Given the description of an element on the screen output the (x, y) to click on. 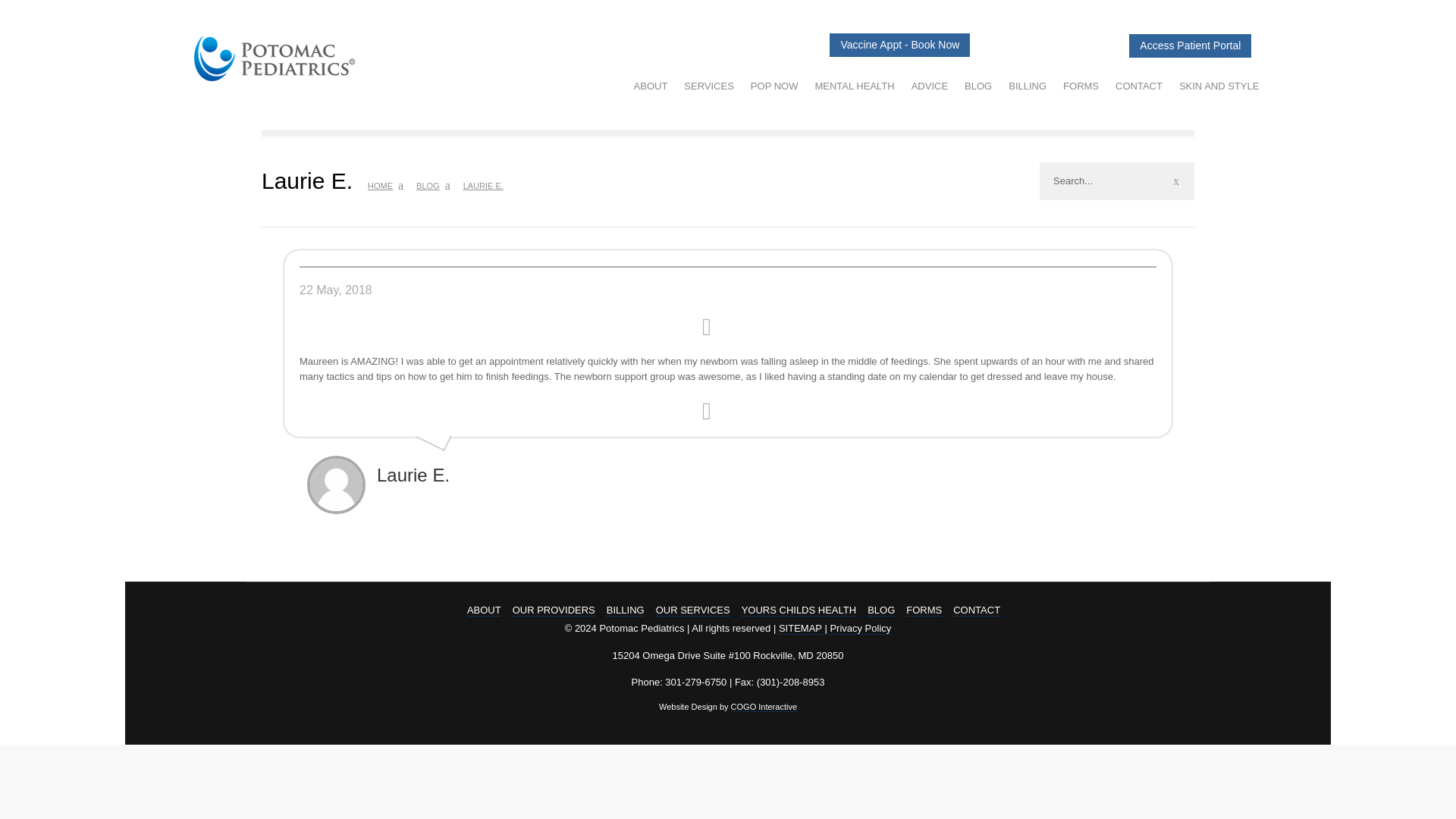
Access Patient Portal (1189, 45)
SERVICES (709, 86)
ABOUT (650, 86)
Home (380, 185)
Blog (427, 185)
MENTAL HEALTH (853, 86)
Search... (1116, 180)
Vaccine Appt - Book Now (899, 44)
Search... (1116, 180)
POP NOW (774, 86)
